Given the description of an element on the screen output the (x, y) to click on. 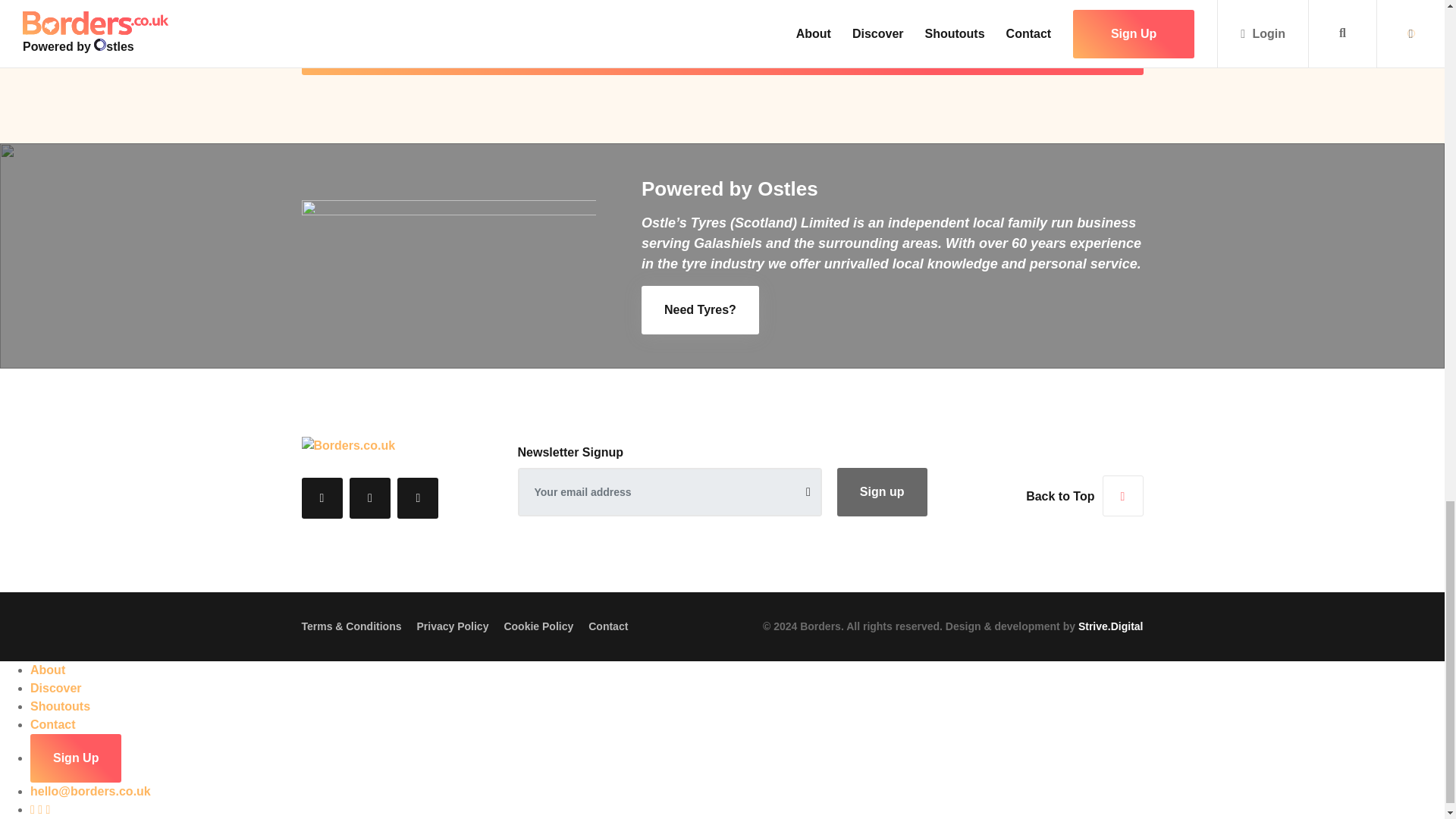
Privacy Policy (451, 626)
Cookie Policy (538, 626)
Borders.co.uk (348, 445)
Contact (607, 626)
Sign up (882, 491)
